Given the description of an element on the screen output the (x, y) to click on. 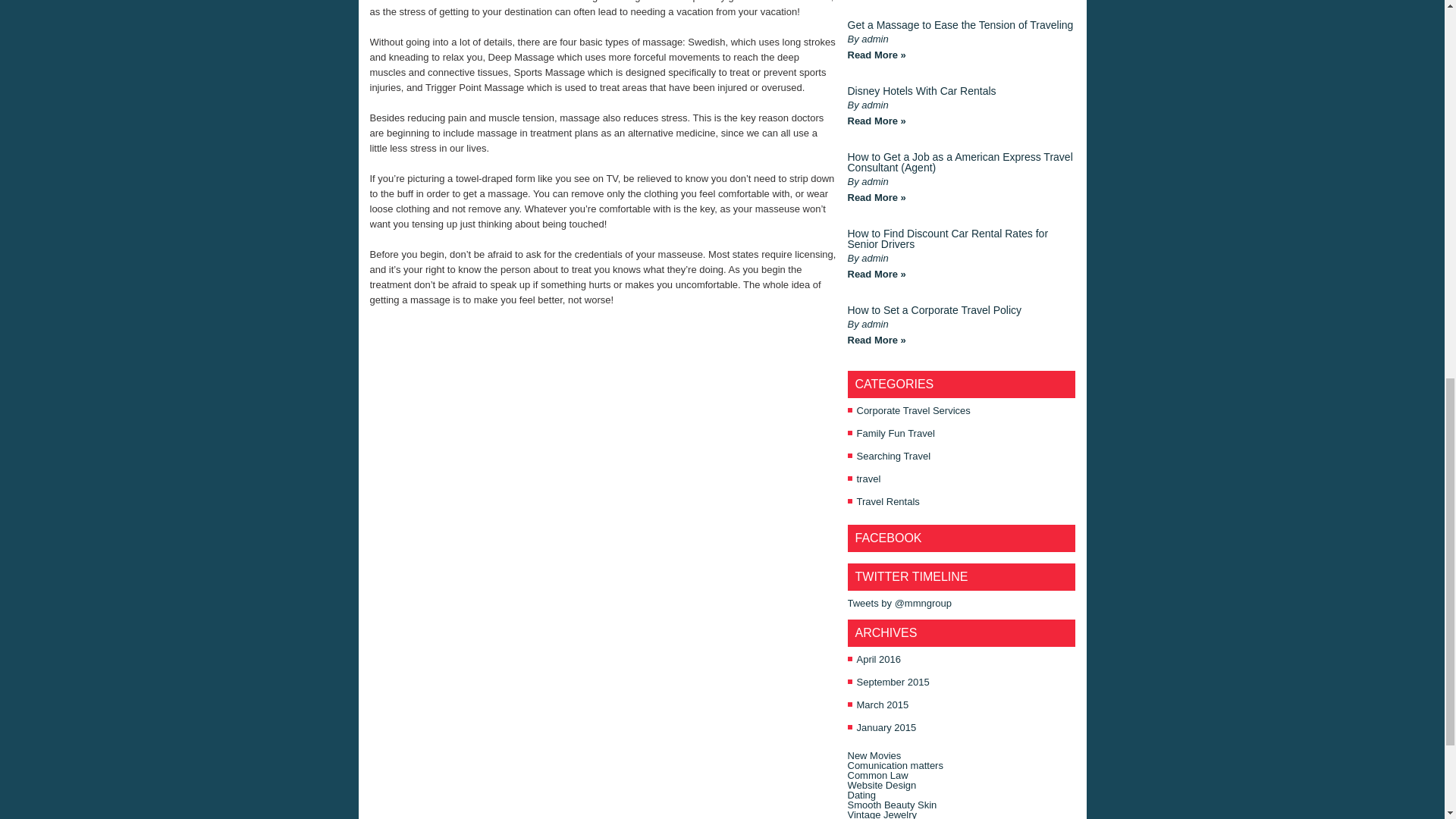
March 2015 (882, 704)
Disney Hotels With Car Rentals (921, 91)
Disney Hotels With Car Rentals (921, 91)
Corporate Travel Services (914, 410)
How to Find Discount Car Rental Rates for Senior Drivers (947, 238)
Travel Rentals (888, 501)
April 2016 (879, 659)
Get a Massage to Ease the Tension of Traveling (960, 24)
travel (868, 478)
Family Fun Travel (895, 432)
How to Set a Corporate Travel Policy (934, 309)
Get a Massage to Ease the Tension of Traveling (960, 24)
September 2015 (893, 681)
Searching Travel (894, 455)
Permalink to Disney Hotels With Car Rentals (876, 120)
